Given the description of an element on the screen output the (x, y) to click on. 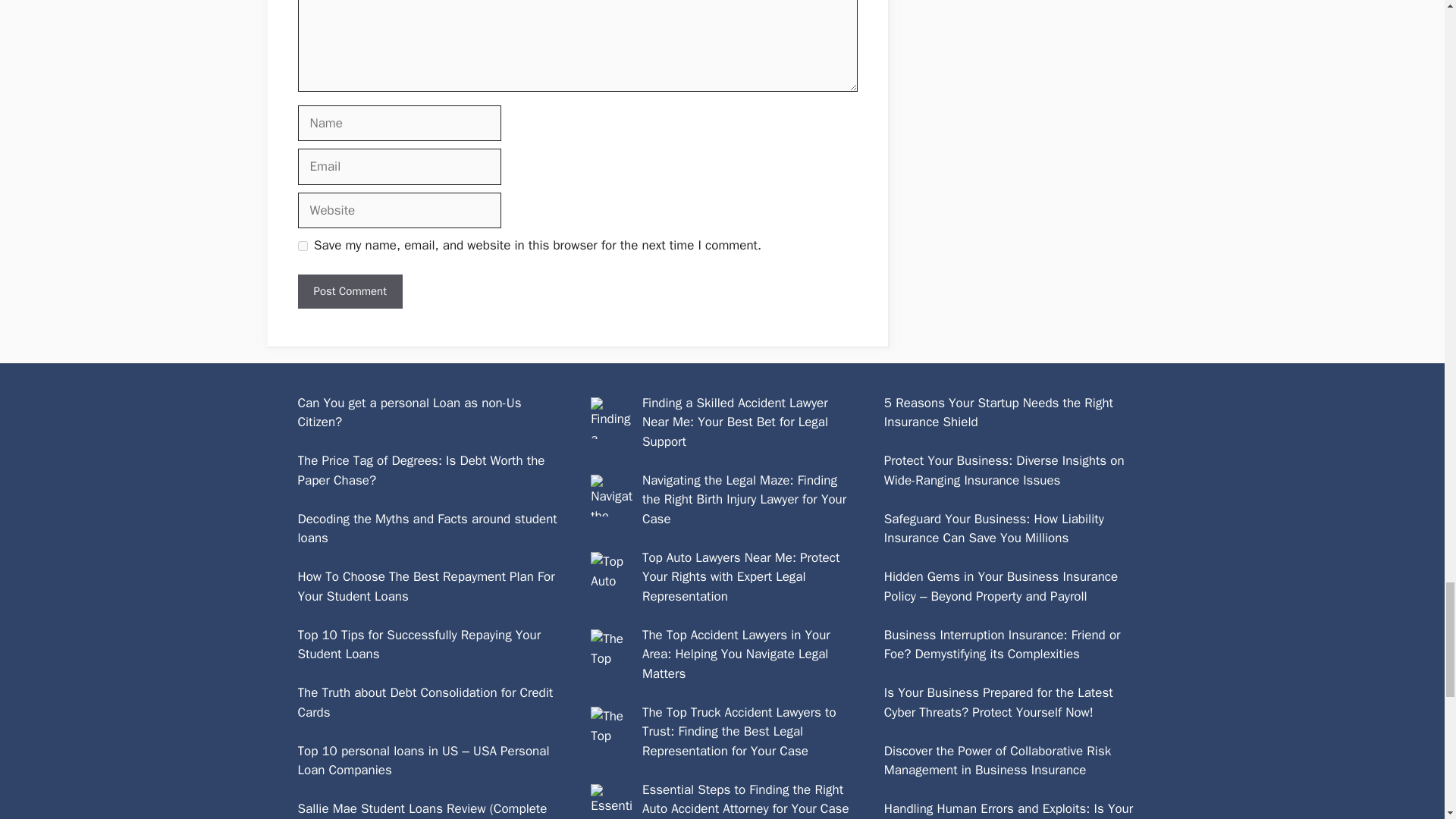
yes (302, 245)
Post Comment (349, 291)
Post Comment (349, 291)
